Given the description of an element on the screen output the (x, y) to click on. 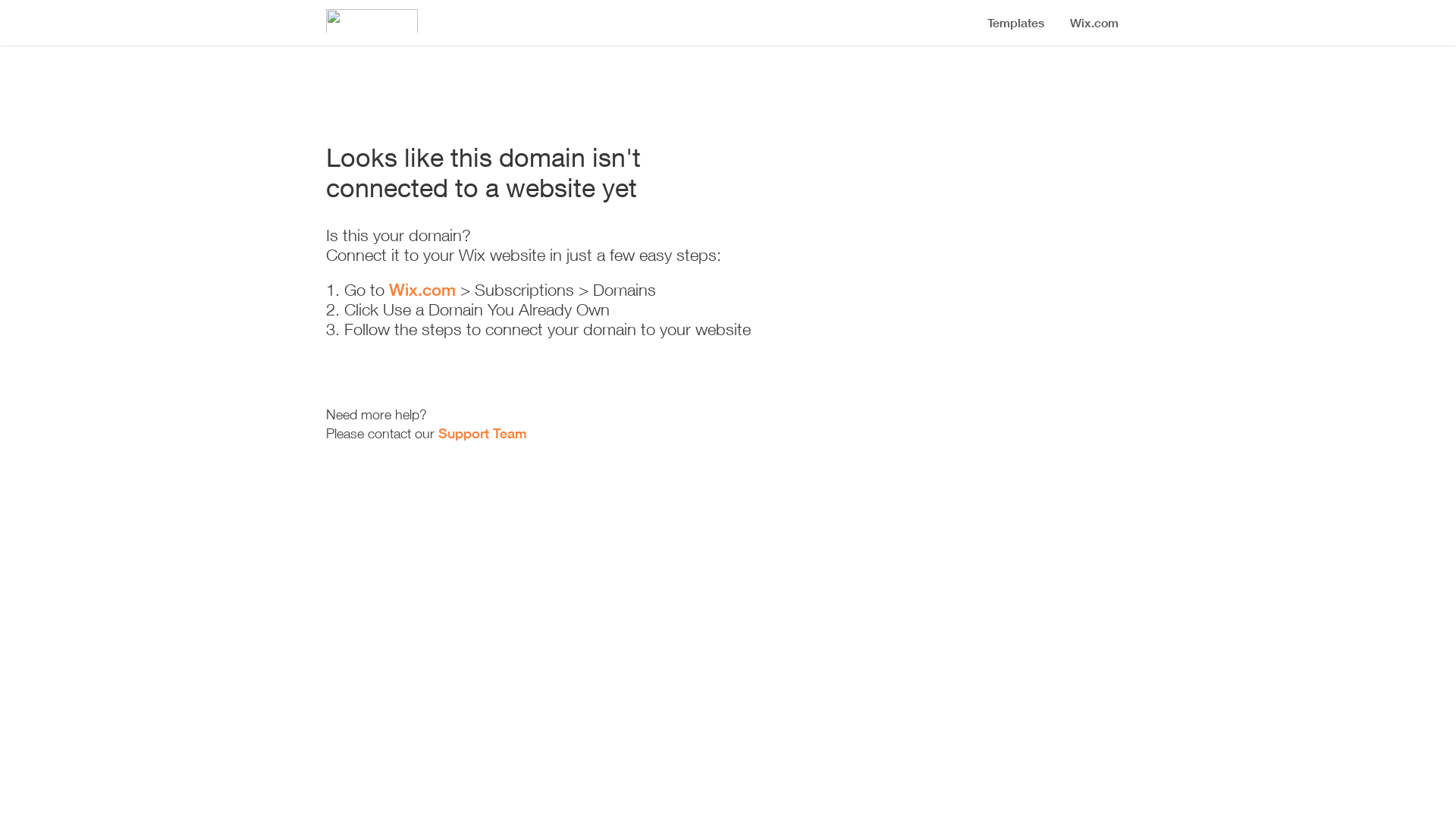
Support Team Element type: text (482, 432)
Wix.com Element type: text (422, 289)
